Given the description of an element on the screen output the (x, y) to click on. 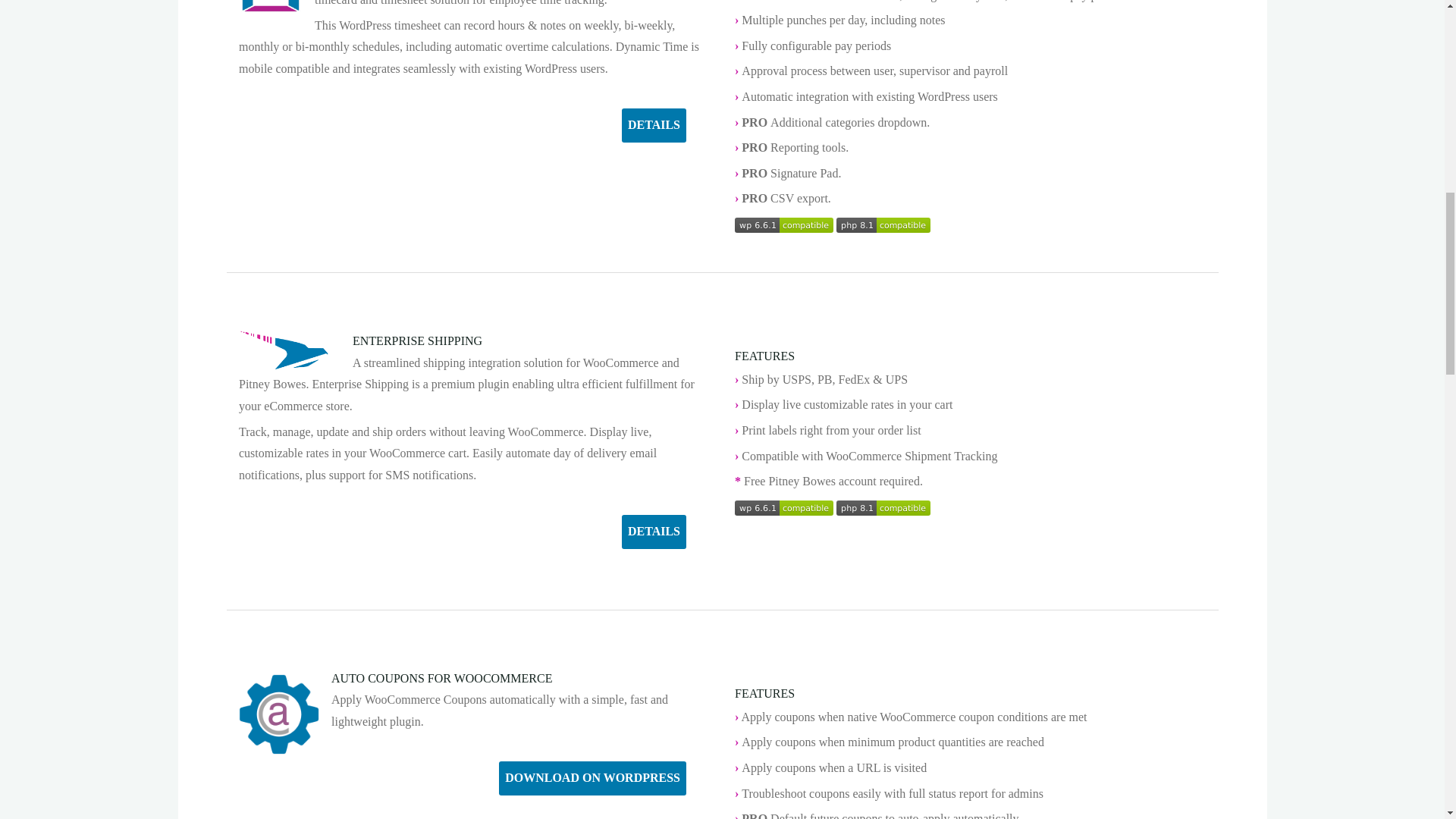
DETAILS (653, 125)
DETAILS (653, 531)
DOWNLOAD ON WORDPRESS (592, 778)
